Given the description of an element on the screen output the (x, y) to click on. 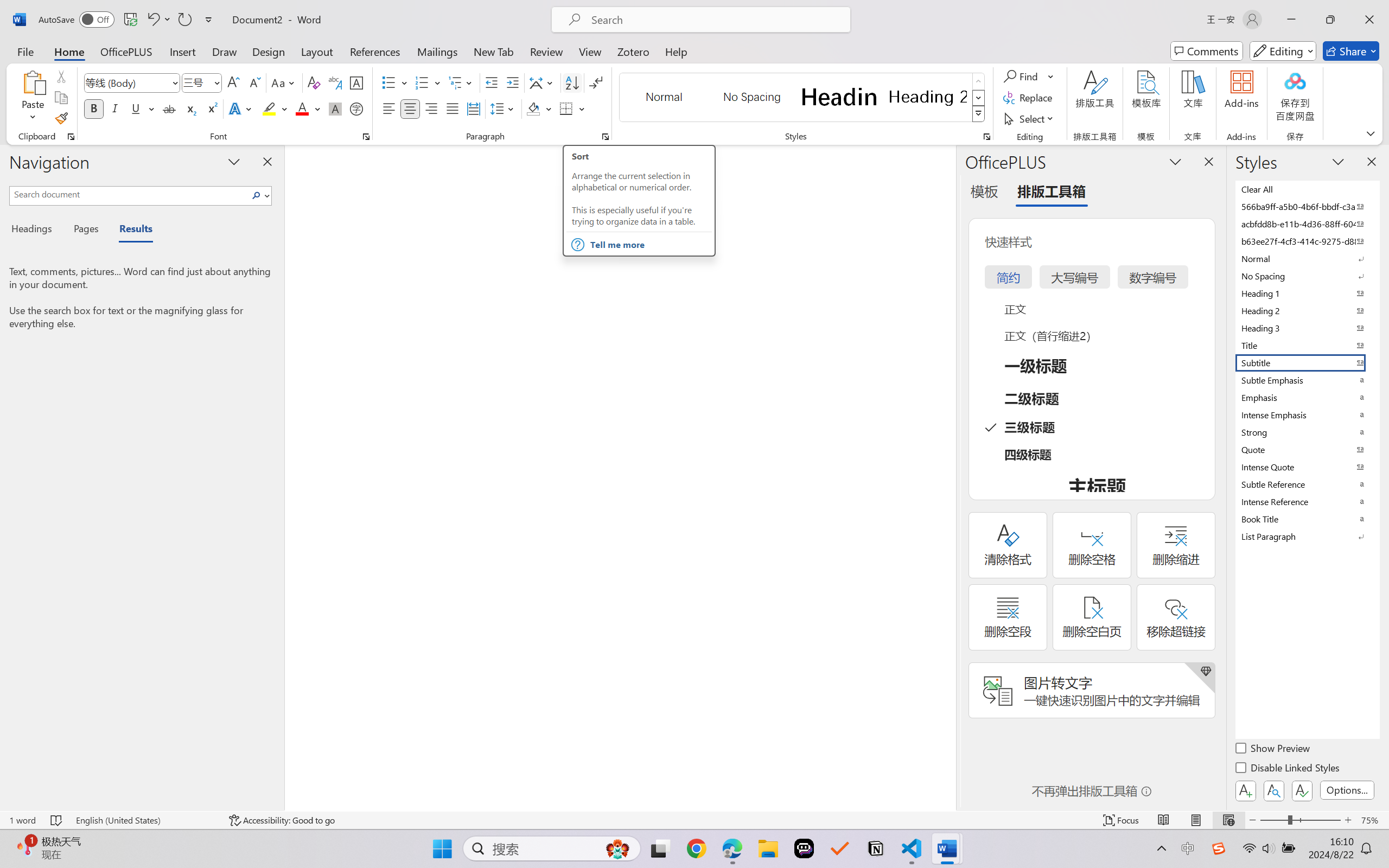
Shrink Font (253, 82)
Headings (35, 229)
New Tab (493, 51)
Word Count 1 word (21, 819)
Borders (571, 108)
Decrease Indent (491, 82)
Select (1030, 118)
Review (546, 51)
AutomationID: BadgeAnchorLargeTicker (24, 847)
Strikethrough (169, 108)
Office Clipboard... (70, 136)
